Given the description of an element on the screen output the (x, y) to click on. 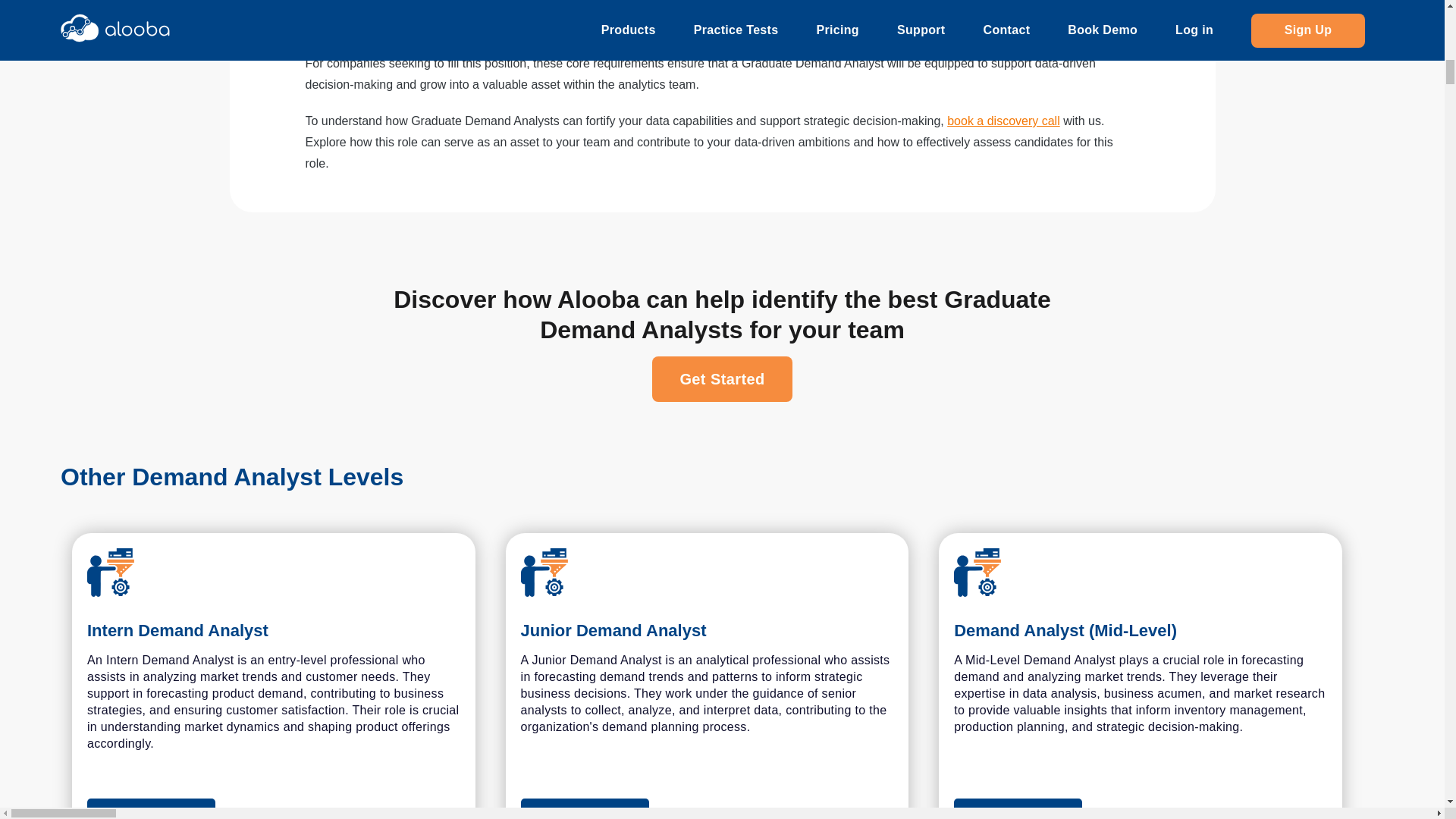
View Details (1017, 808)
Get Started (722, 379)
book a discovery call (1003, 120)
Get Started (722, 379)
View Details (151, 808)
View Details (1139, 808)
View Details (707, 808)
View Details (273, 808)
View Details (585, 808)
